Given the description of an element on the screen output the (x, y) to click on. 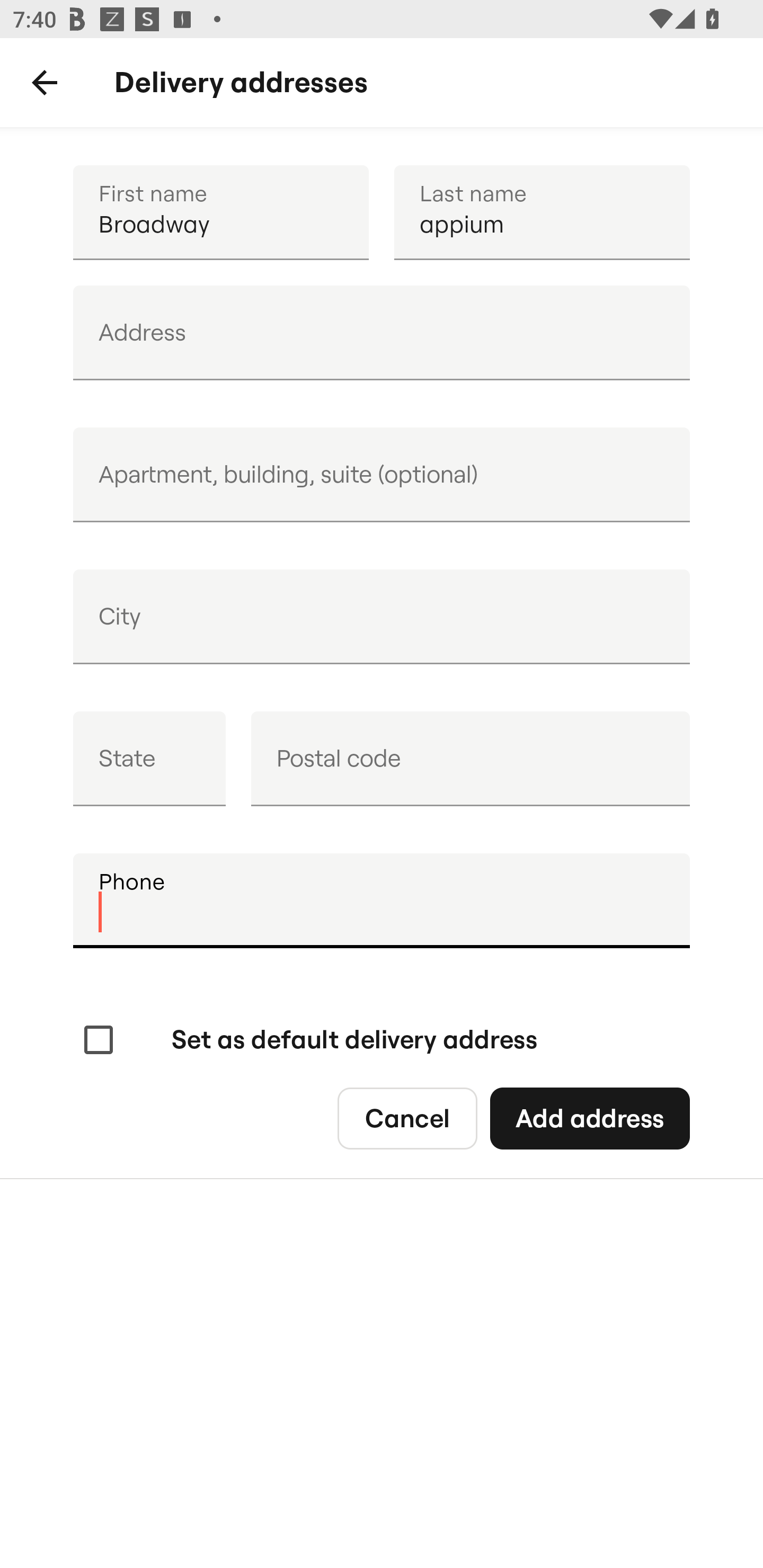
Back (44, 82)
Broadway (220, 212)
appium (541, 212)
Address (381, 333)
Apartment, building, suite (optional) (381, 475)
City (381, 616)
State (149, 758)
Postal code (470, 758)
Phone (381, 900)
Set as default delivery address (308, 1039)
Cancel (407, 1118)
Add address (589, 1118)
